Given the description of an element on the screen output the (x, y) to click on. 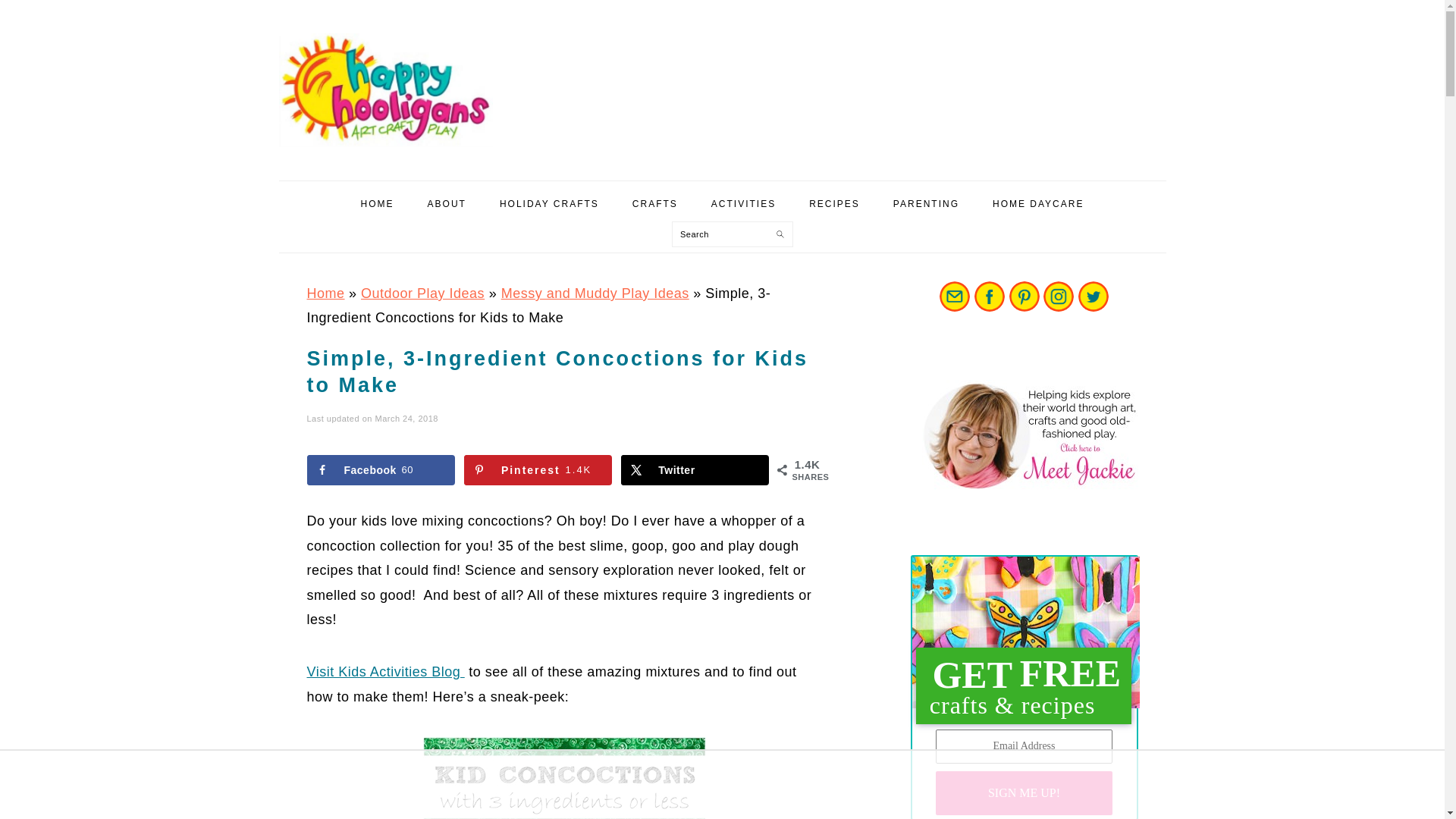
View All of Our Crafts for Kids (654, 203)
HOLIDAY CRAFTS (548, 203)
View All Of Our Parenting Articles (926, 203)
HOME (377, 203)
ACTIVITIES (743, 203)
HAPPY HOOLIGANS (392, 90)
CRAFTS (654, 203)
View All Of Our Recipes (834, 203)
ABOUT (446, 203)
